Given the description of an element on the screen output the (x, y) to click on. 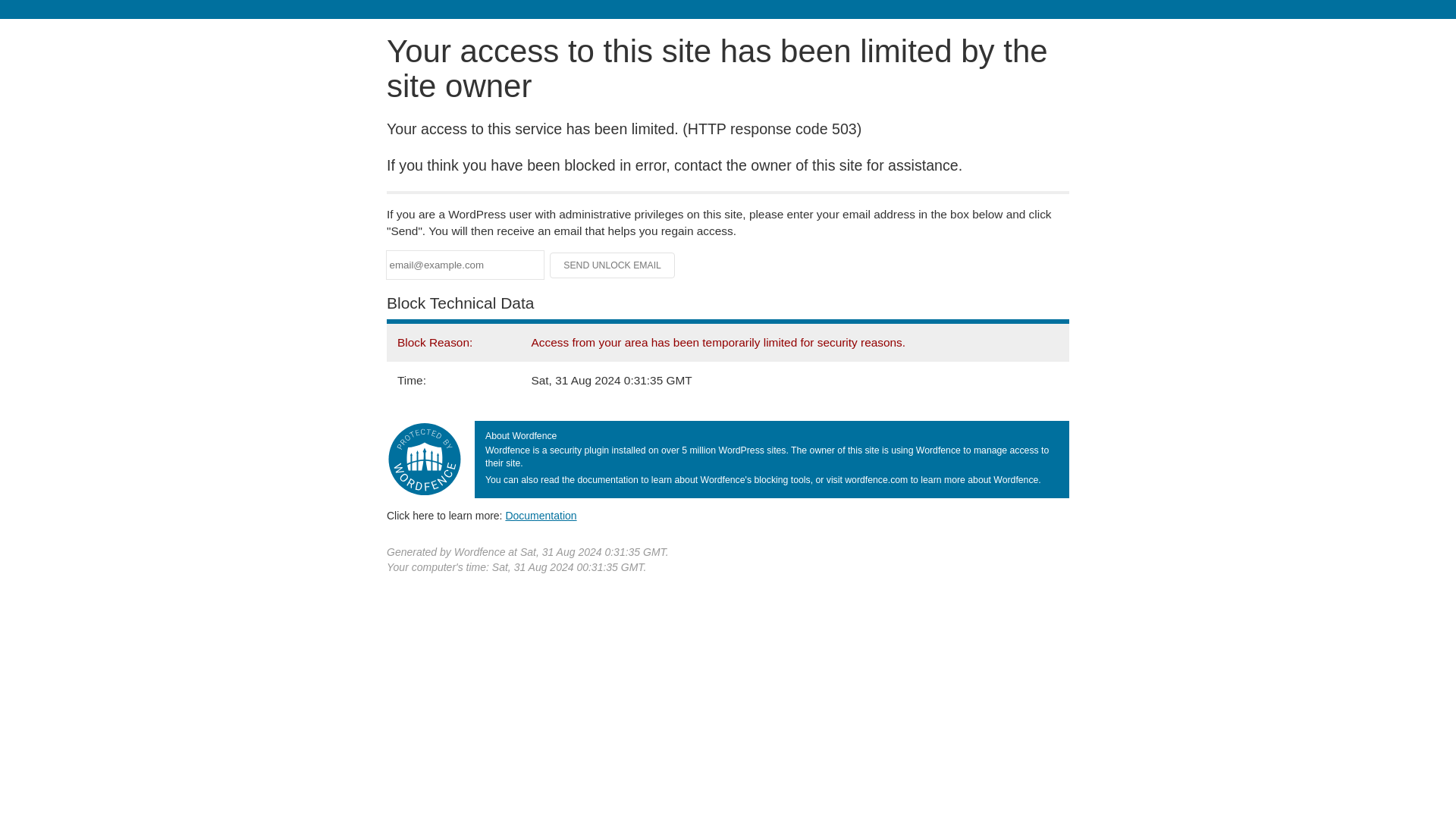
Send Unlock Email (612, 265)
Send Unlock Email (612, 265)
Documentation (540, 515)
